Given the description of an element on the screen output the (x, y) to click on. 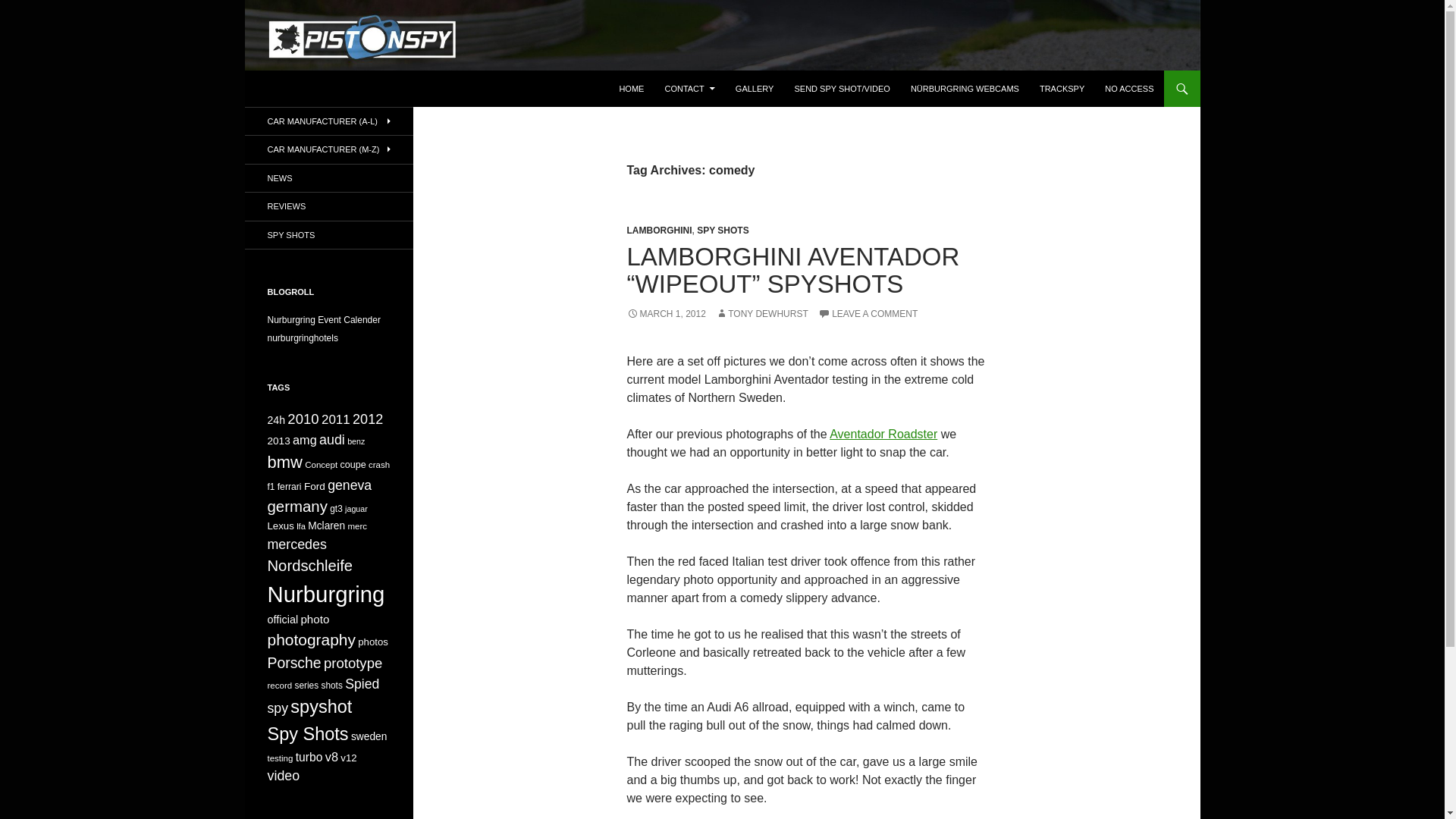
LAMBORGHINI (658, 230)
HOME (631, 88)
CONTACT (689, 88)
TONY DEWHURST (762, 313)
Trackspy Dashcam (1061, 88)
SPY SHOTS (722, 230)
Aventador Roadster (883, 433)
Touristen Fahrten Dates (323, 319)
MARCH 1, 2012 (665, 313)
NO ACCESS (1128, 88)
Car Spy Shot Submission (841, 88)
TRACKSPY (1061, 88)
Pistonspy Nurburgring and Motorsport Photography and News (470, 88)
New Gallery (754, 88)
